Given the description of an element on the screen output the (x, y) to click on. 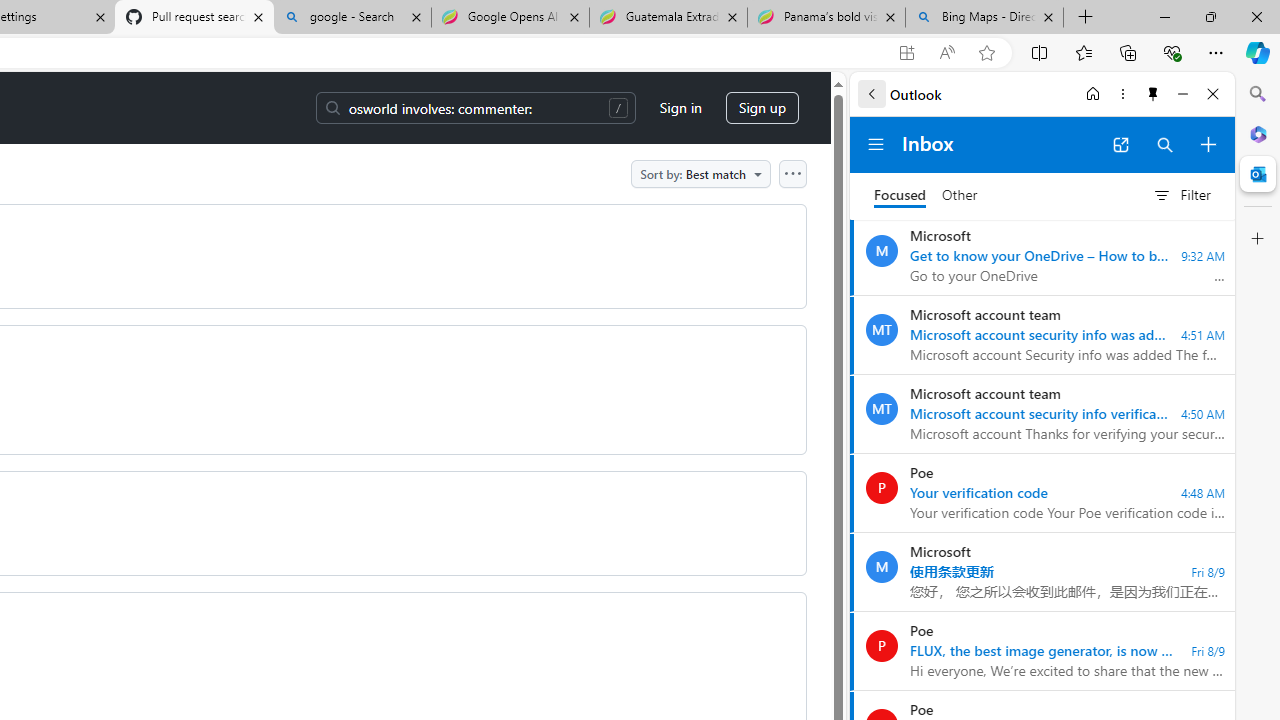
Other (959, 195)
